Given the description of an element on the screen output the (x, y) to click on. 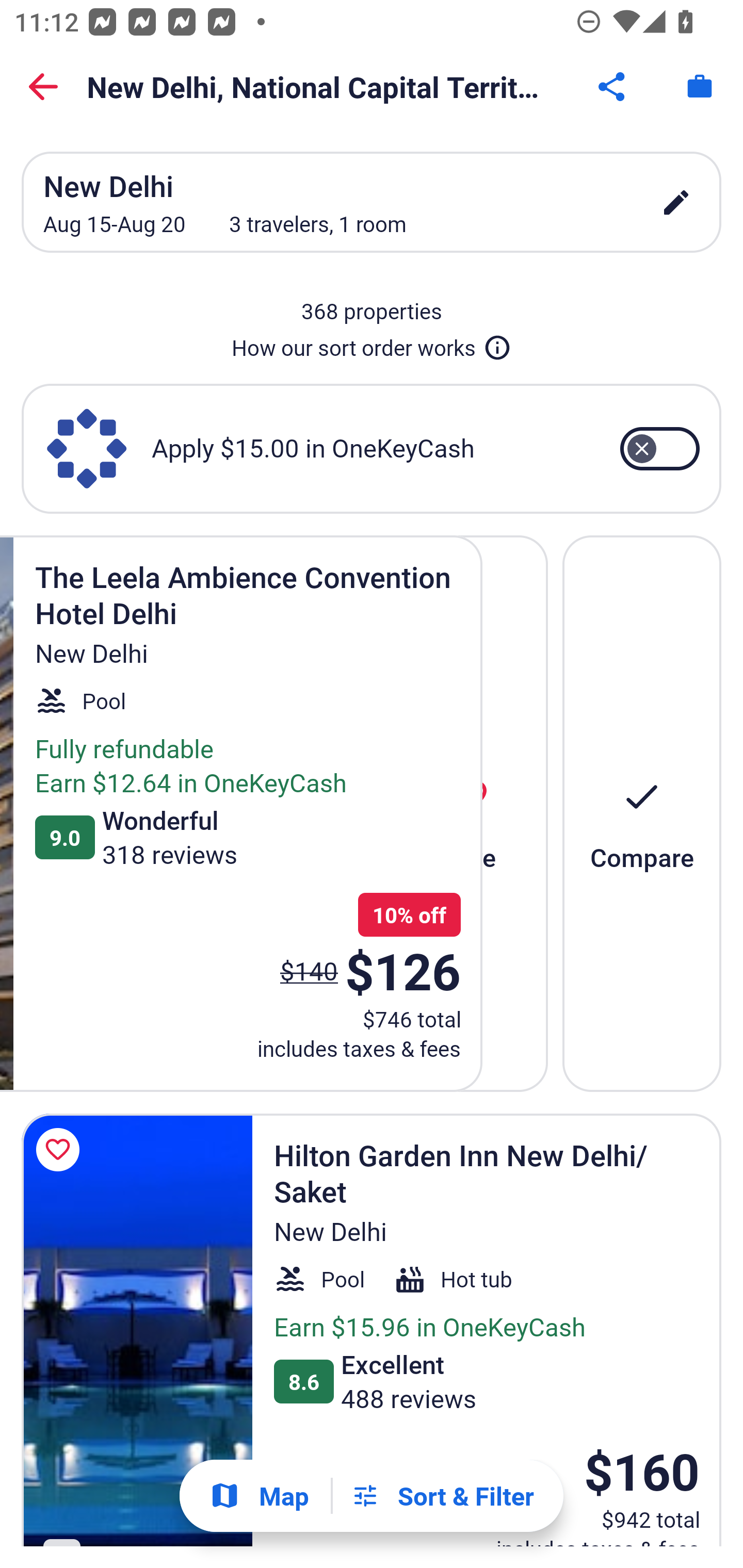
Back (43, 86)
Share Button (612, 86)
Trips. Button (699, 86)
New Delhi Aug 15-Aug 20 3 travelers, 1 room edit (371, 202)
How our sort order works (371, 344)
Compare (641, 812)
$140 The price was $140 (308, 970)
Save Hilton Garden Inn New Delhi/Saket to a trip (61, 1150)
Hilton Garden Inn New Delhi/Saket (136, 1329)
Filters Sort & Filter Filters Button (442, 1495)
Show map Map Show map Button (258, 1495)
